Given the description of an element on the screen output the (x, y) to click on. 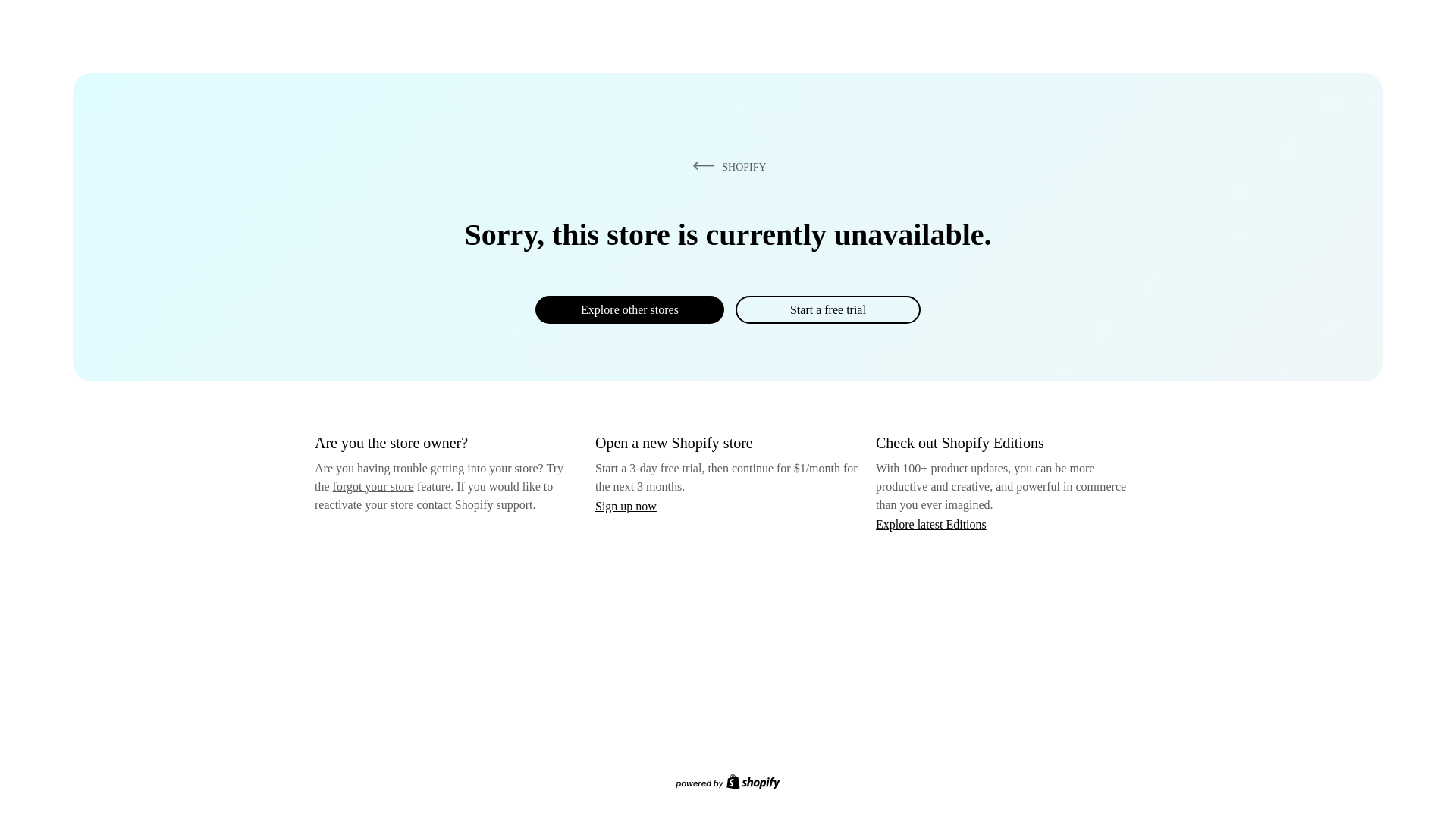
SHOPIFY (726, 166)
Explore other stores (629, 309)
forgot your store (373, 486)
Start a free trial (827, 309)
Explore latest Editions (931, 523)
Shopify support (493, 504)
Sign up now (625, 505)
